Given the description of an element on the screen output the (x, y) to click on. 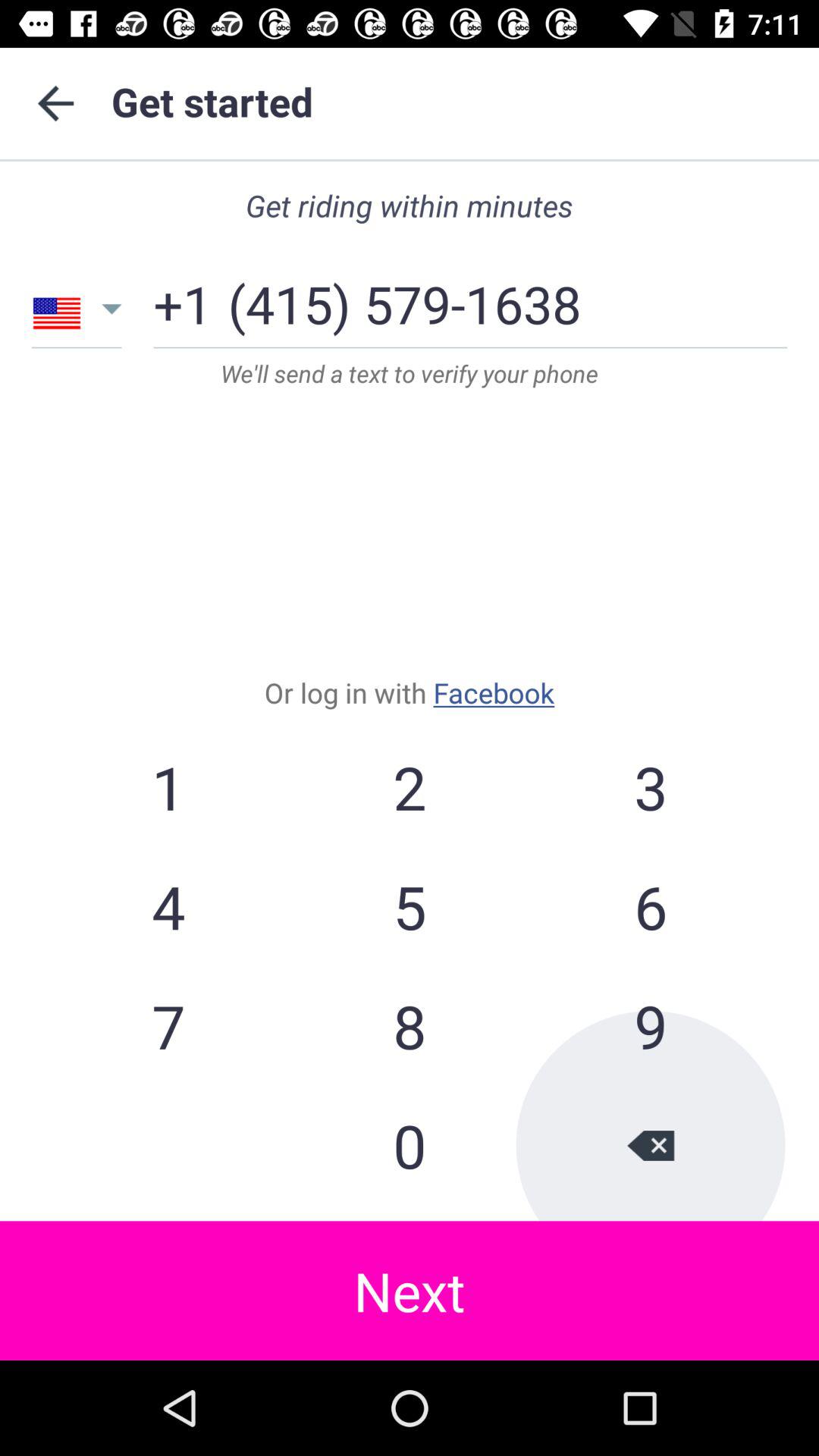
select icon next to 9 icon (409, 1145)
